Given the description of an element on the screen output the (x, y) to click on. 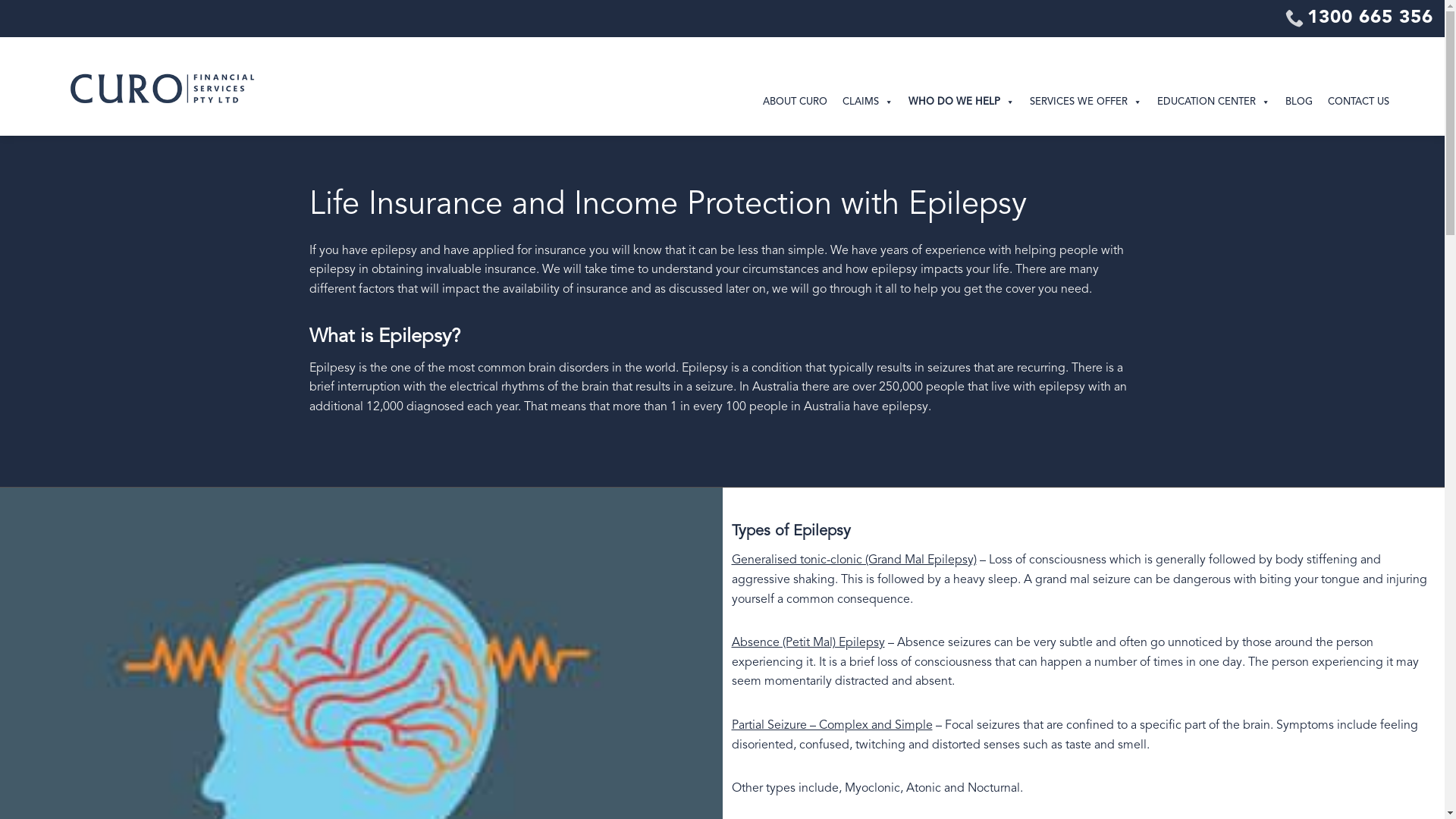
EDUCATION CENTER Element type: text (1213, 102)
1300 665 356 Element type: text (1359, 18)
WHO DO WE HELP Element type: text (961, 102)
SERVICES WE OFFER Element type: text (1085, 102)
CONTACT US Element type: text (1358, 102)
CLAIMS Element type: text (867, 102)
BLOG Element type: text (1298, 102)
ABOUT CURO Element type: text (794, 102)
